Given the description of an element on the screen output the (x, y) to click on. 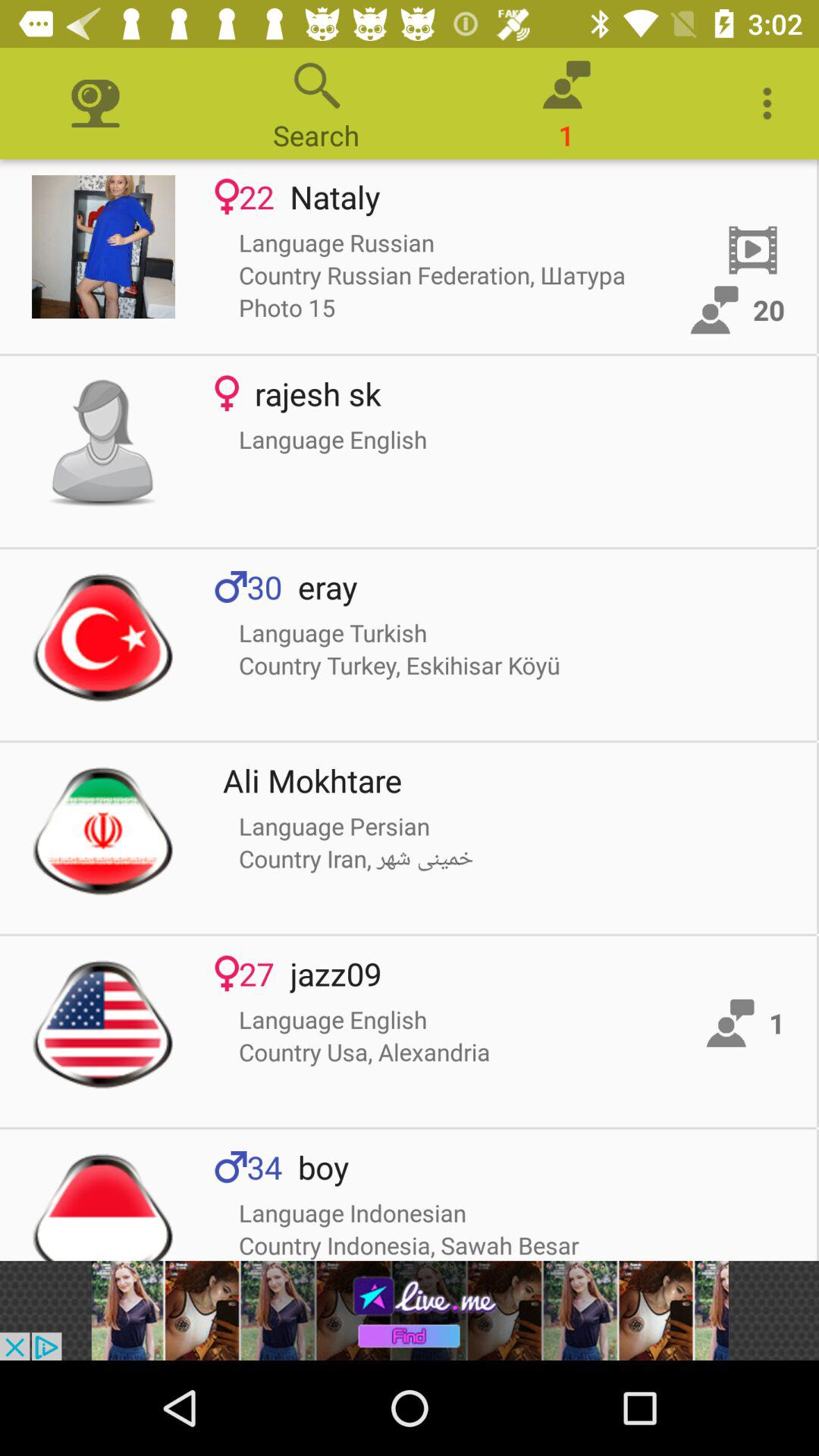
click for more info (103, 246)
